Given the description of an element on the screen output the (x, y) to click on. 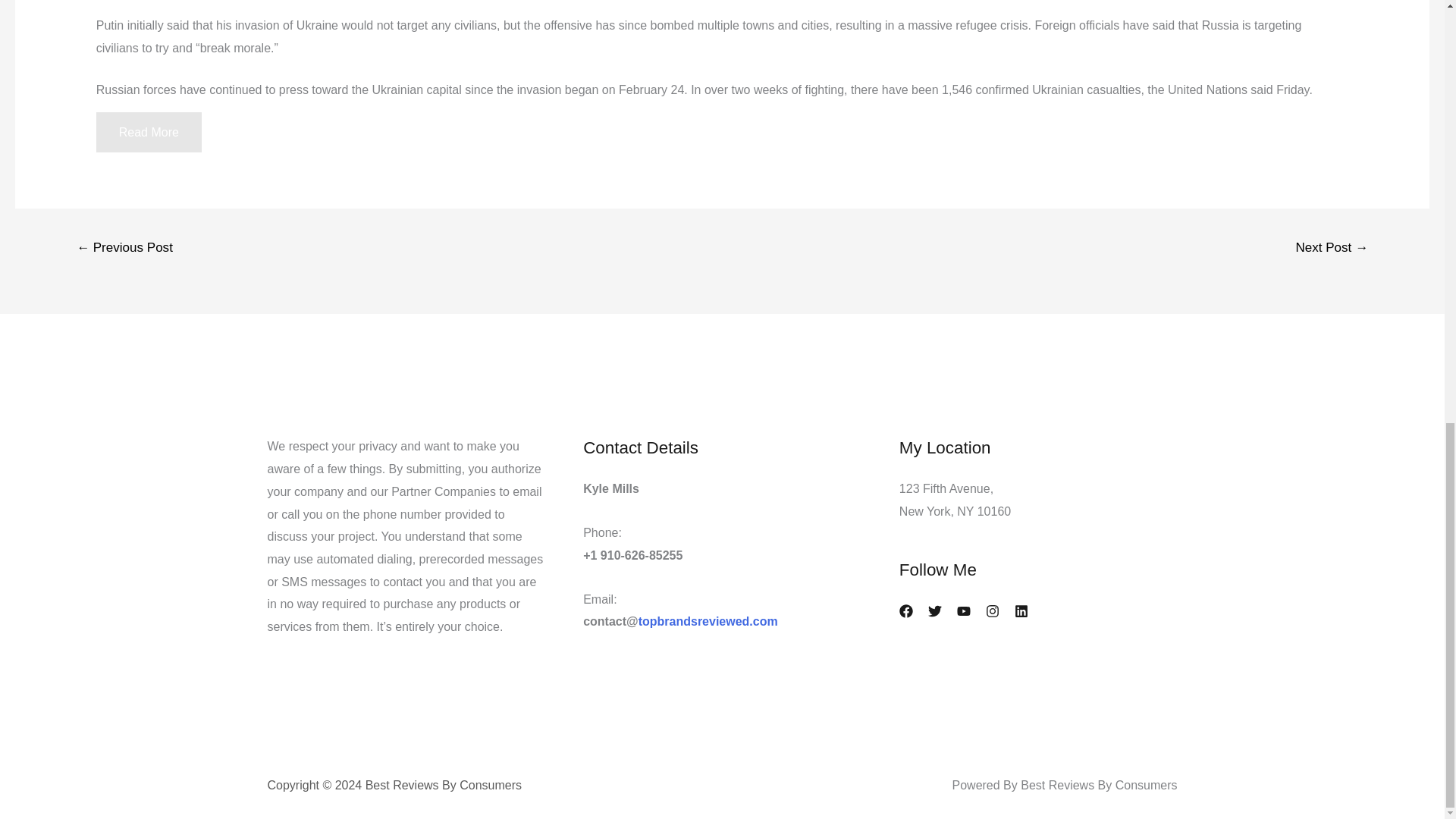
topbrandsreviewed.com (708, 621)
Read More (149, 132)
